Given the description of an element on the screen output the (x, y) to click on. 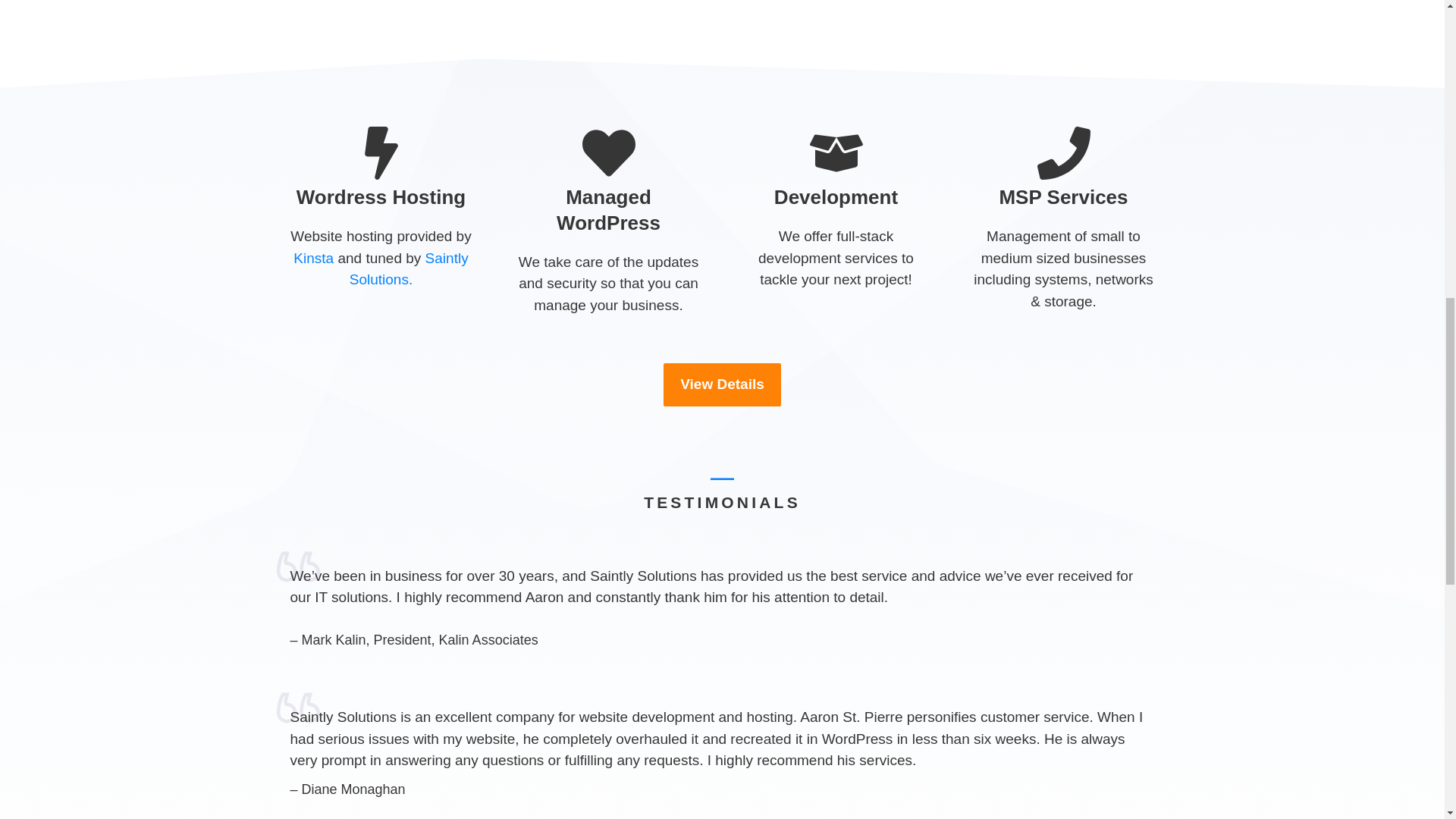
View Details (721, 384)
Kinsta (315, 258)
Saintly Solutions. (408, 269)
